Given the description of an element on the screen output the (x, y) to click on. 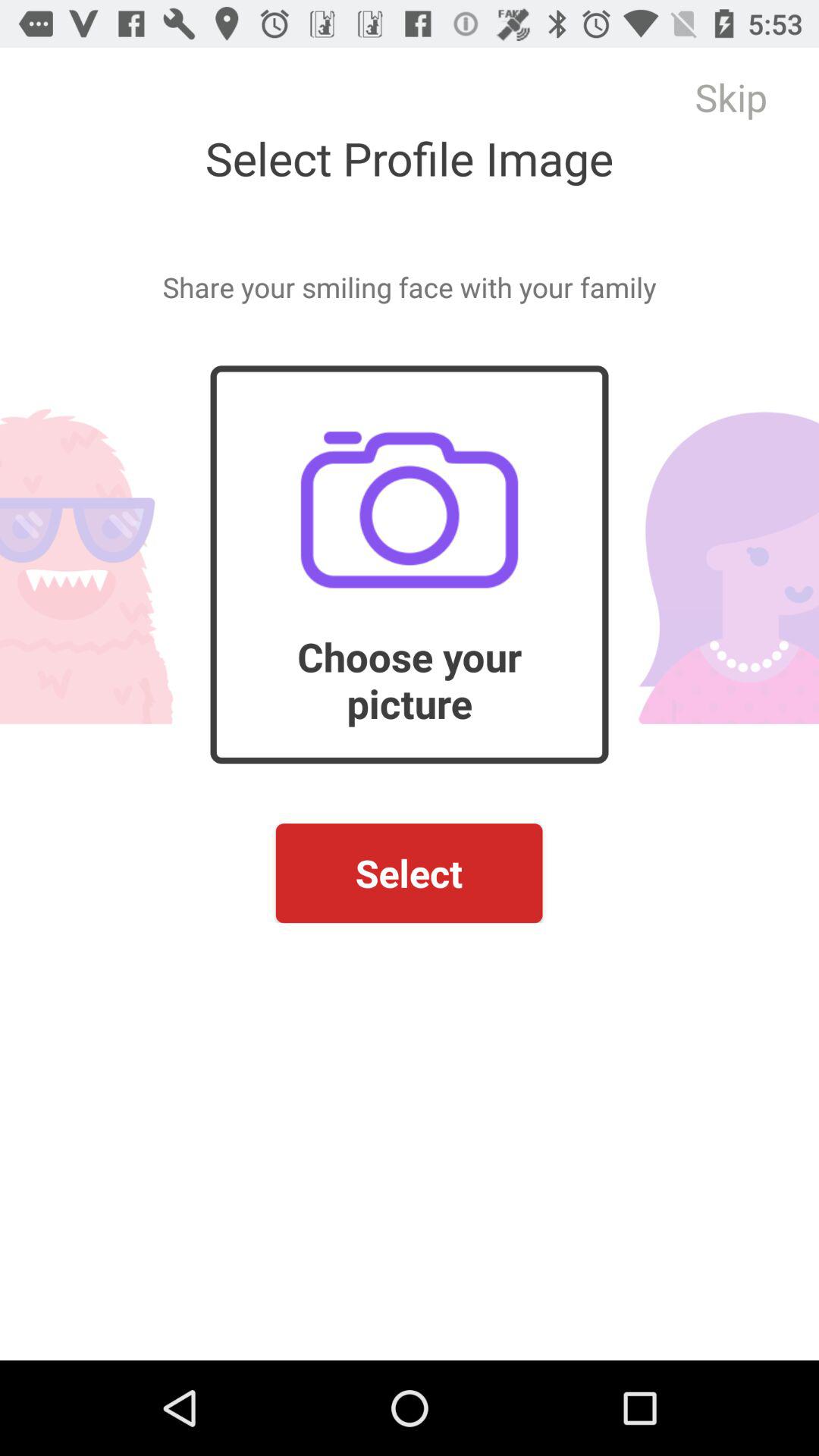
turn off the skip (731, 97)
